Given the description of an element on the screen output the (x, y) to click on. 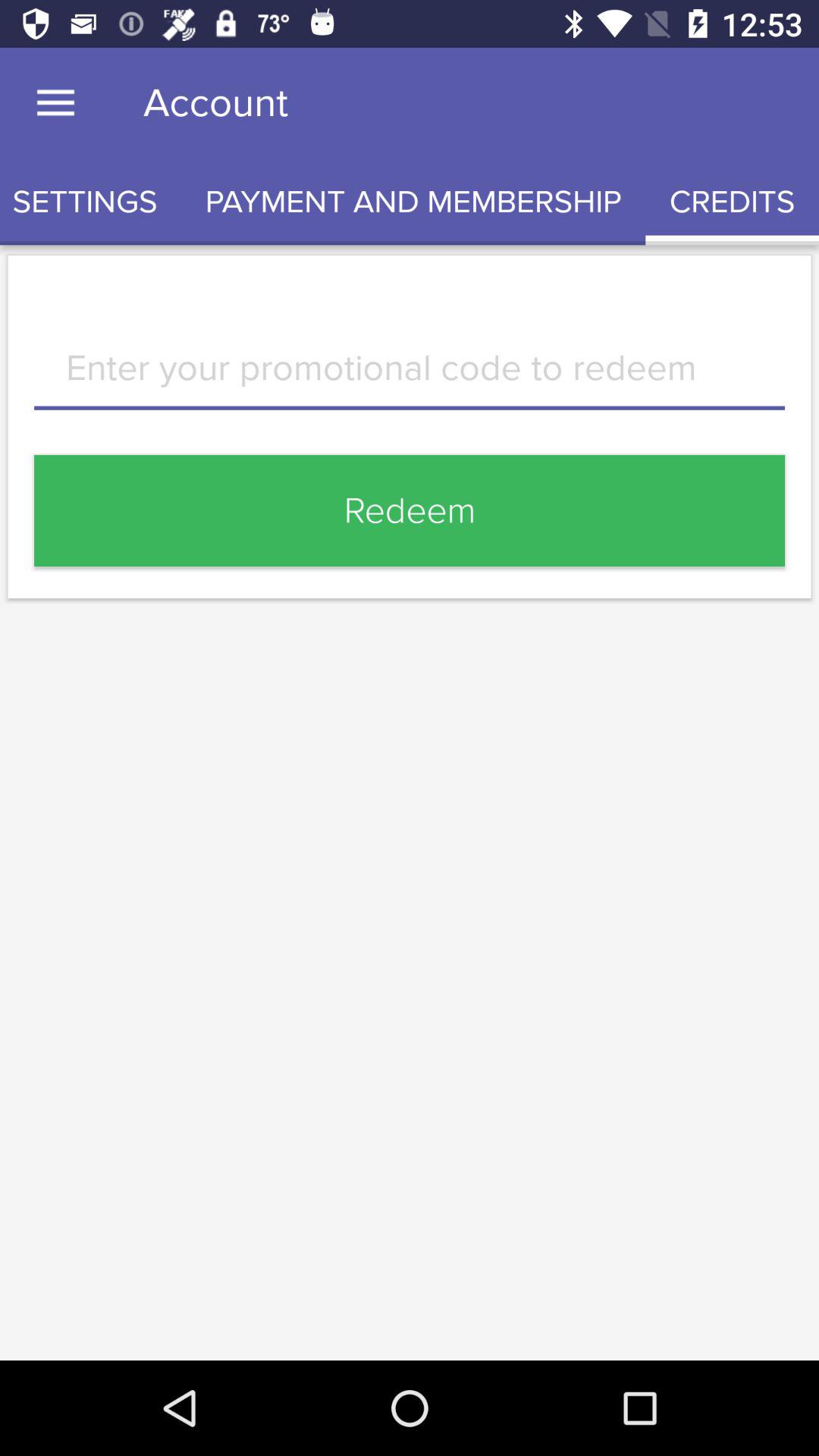
select the icon next to the account (55, 103)
